Given the description of an element on the screen output the (x, y) to click on. 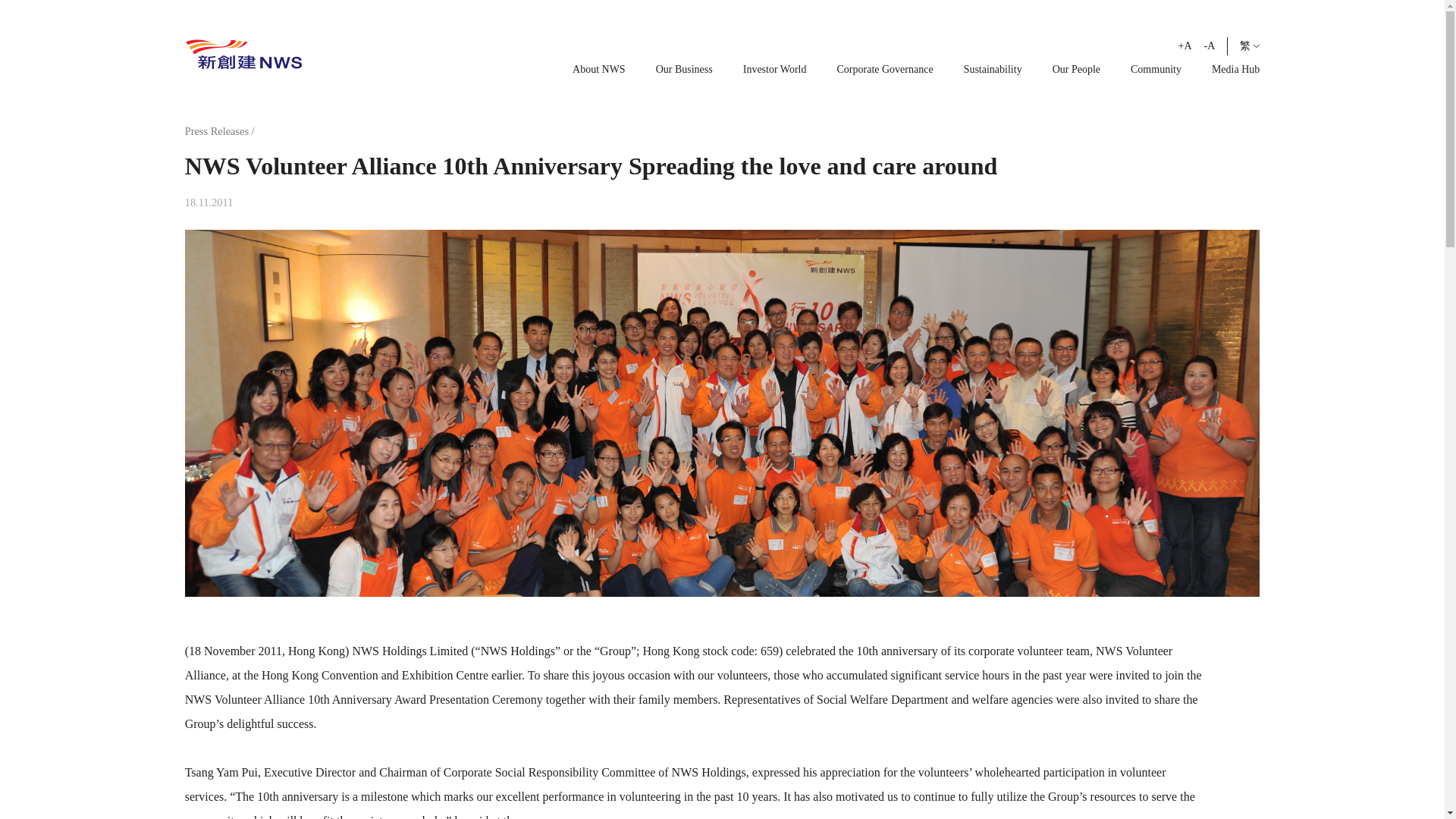
Investor World (774, 69)
Media Hub (1235, 69)
Corporate Governance (885, 69)
Our People (1076, 69)
Community (1155, 69)
About NWS (599, 69)
Our Business (684, 69)
Sustainability (992, 69)
